Given the description of an element on the screen output the (x, y) to click on. 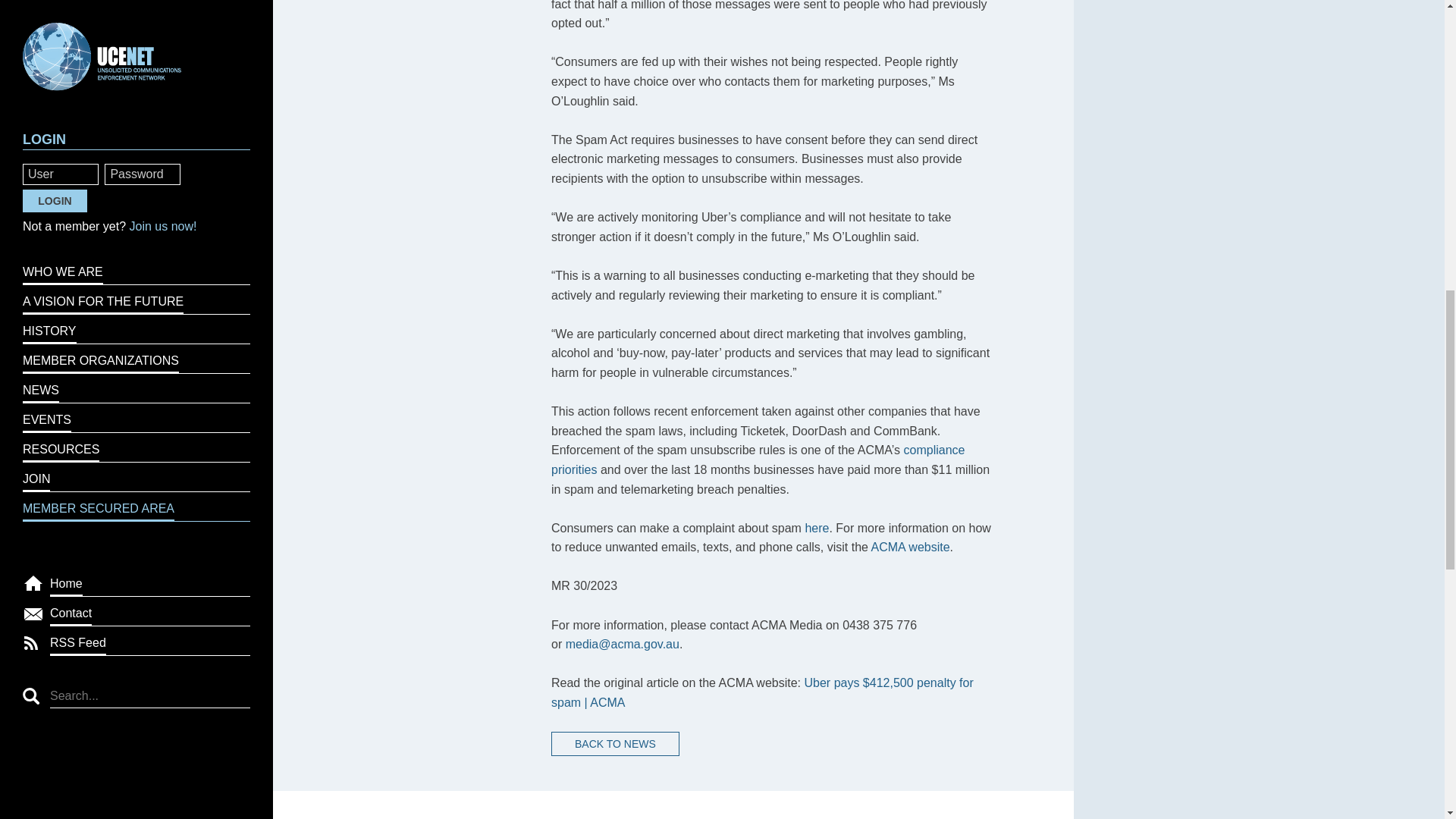
BACK TO NEWS (615, 743)
compliance priorities (757, 459)
here (816, 527)
ACMA website (910, 546)
